Given the description of an element on the screen output the (x, y) to click on. 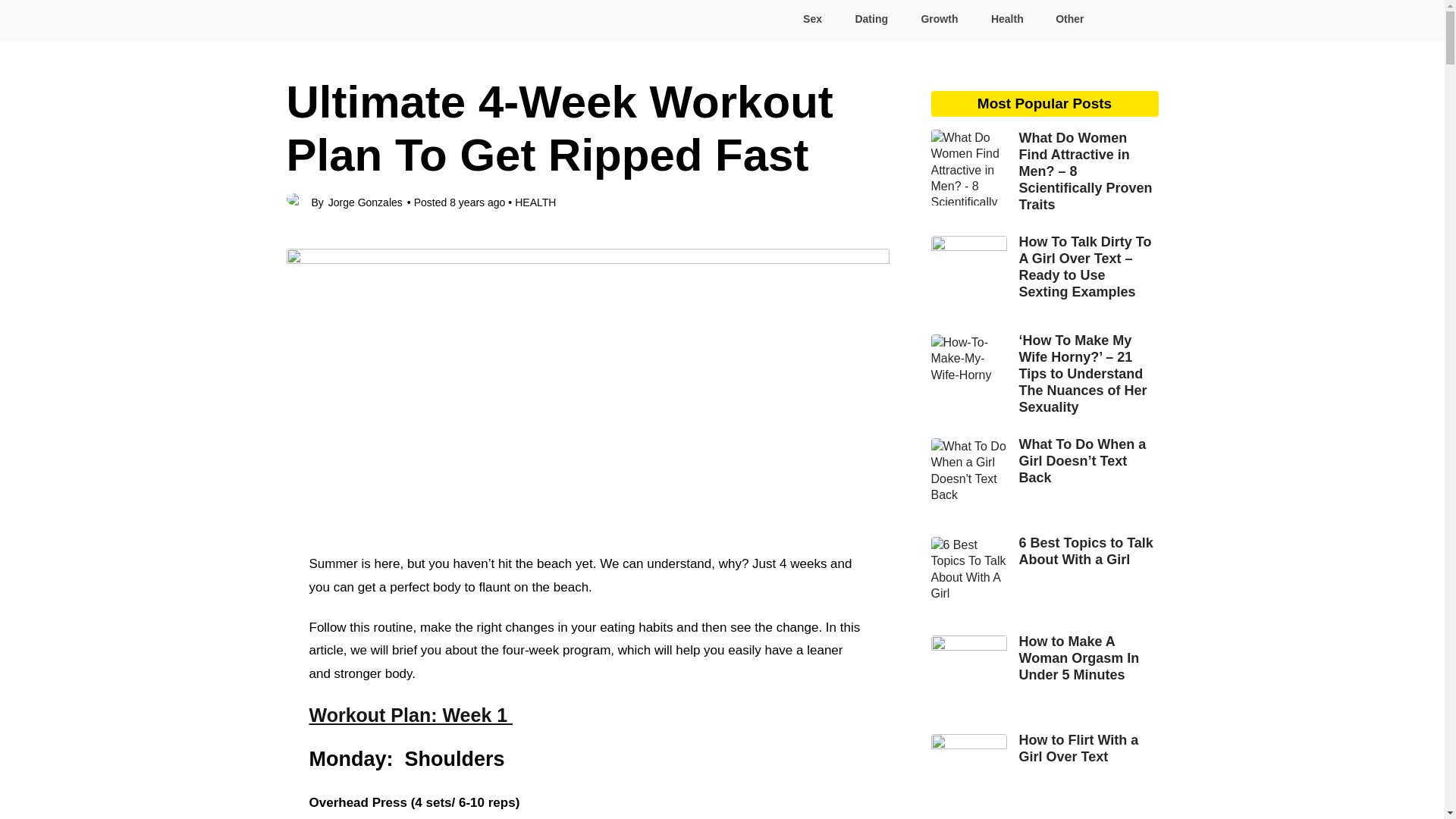
Growth (938, 19)
Dating (870, 19)
Health (1005, 19)
How to Make A Woman Orgasm In Under 5 Minutes (1044, 658)
Other (1063, 19)
Wingman Magazine (350, 18)
Sex (810, 19)
6 Best Topics to Talk About With a Girl (1044, 551)
